Given the description of an element on the screen output the (x, y) to click on. 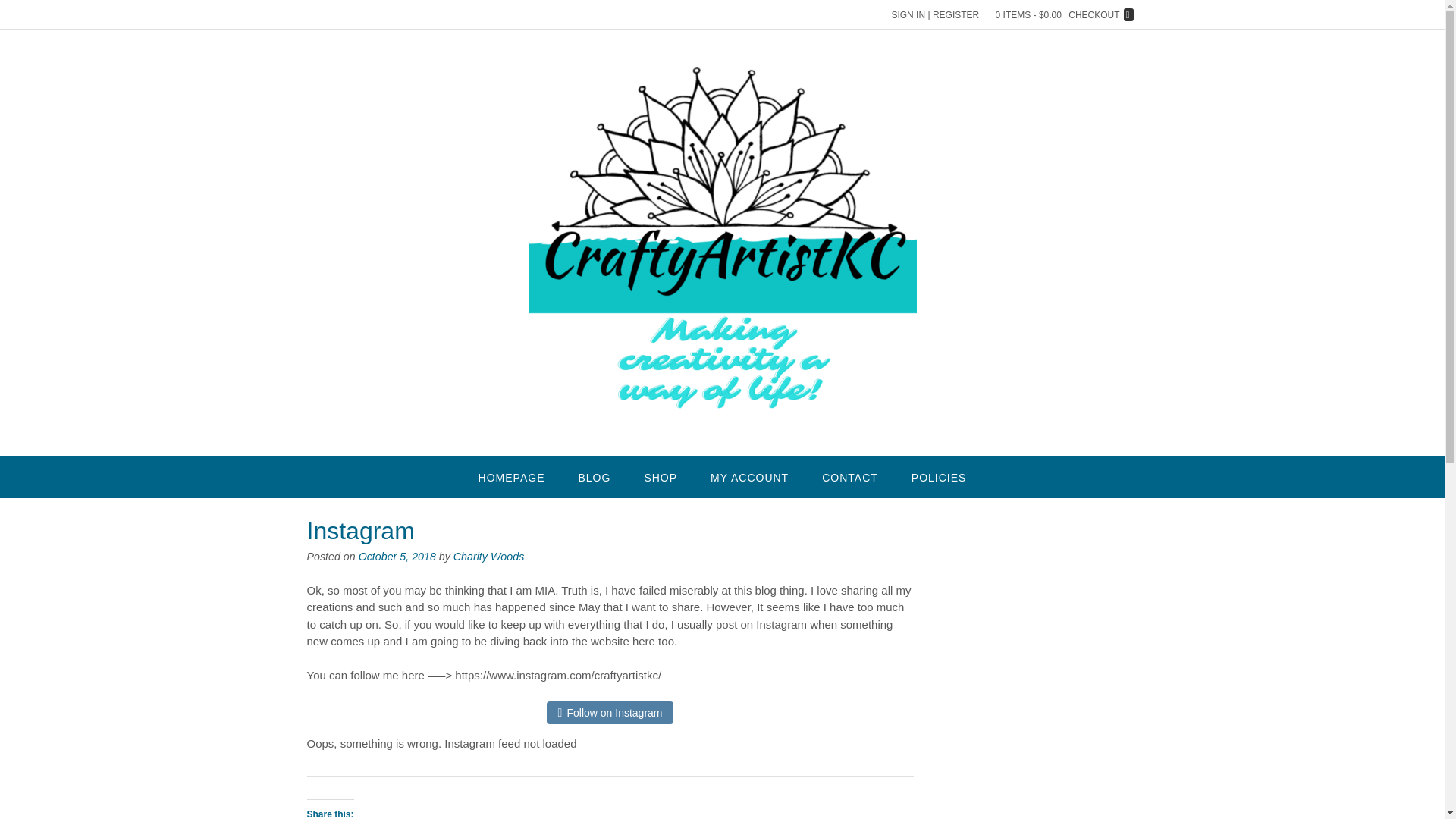
MY ACCOUNT (749, 476)
SHOP (660, 476)
October 5, 2018 (396, 556)
HOMEPAGE (511, 476)
Charity Woods (488, 556)
CONTACT (850, 476)
POLICIES (939, 476)
BLOG (593, 476)
Follow on Instagram (614, 713)
